Given the description of an element on the screen output the (x, y) to click on. 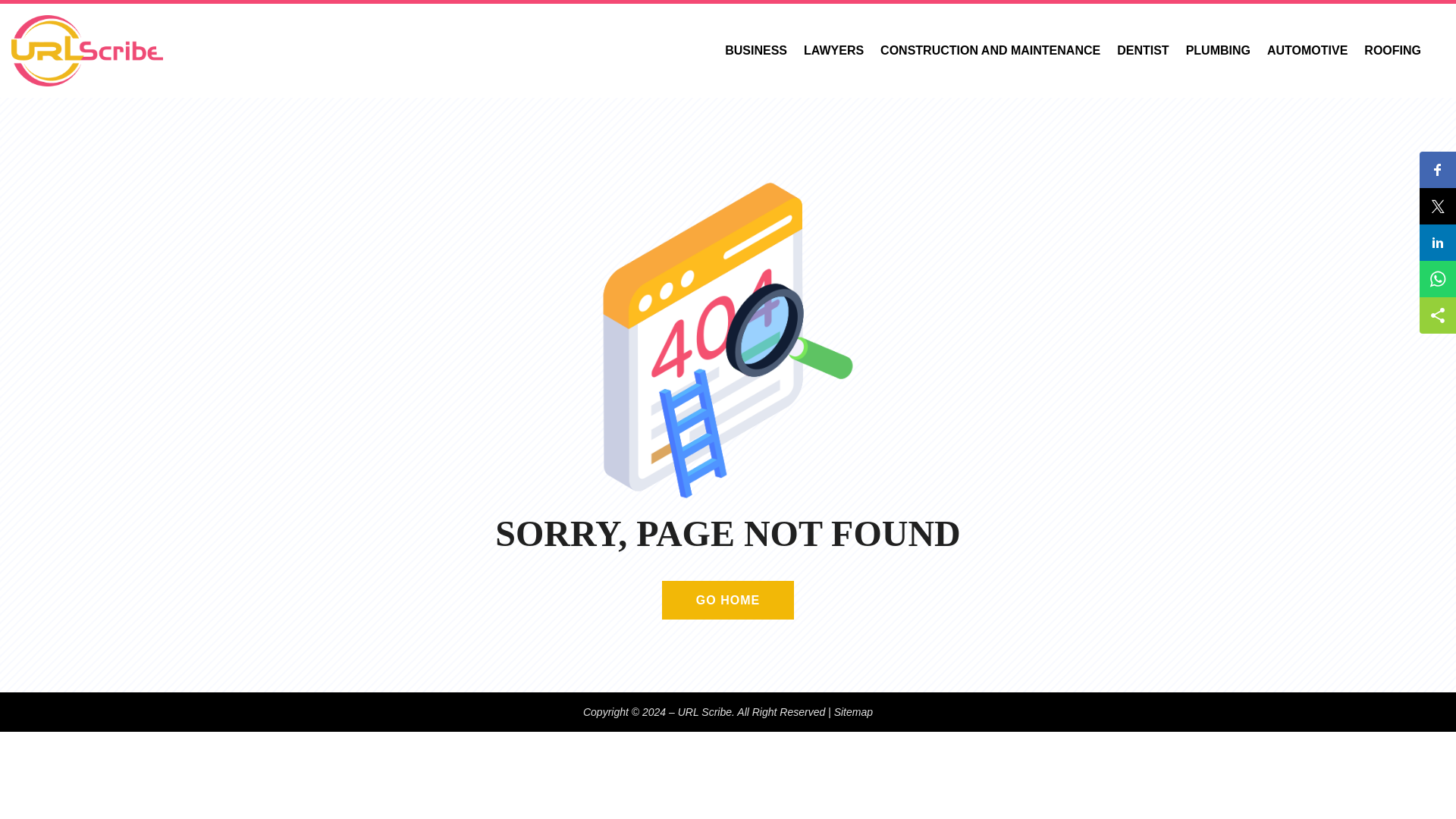
CONSTRUCTION AND MAINTENANCE (990, 50)
404-error (727, 340)
URL Scribe. (706, 711)
Sitemap (853, 711)
GO HOME (727, 599)
AUTOMOTIVE (1307, 50)
PLUMBING (1218, 50)
